Given the description of an element on the screen output the (x, y) to click on. 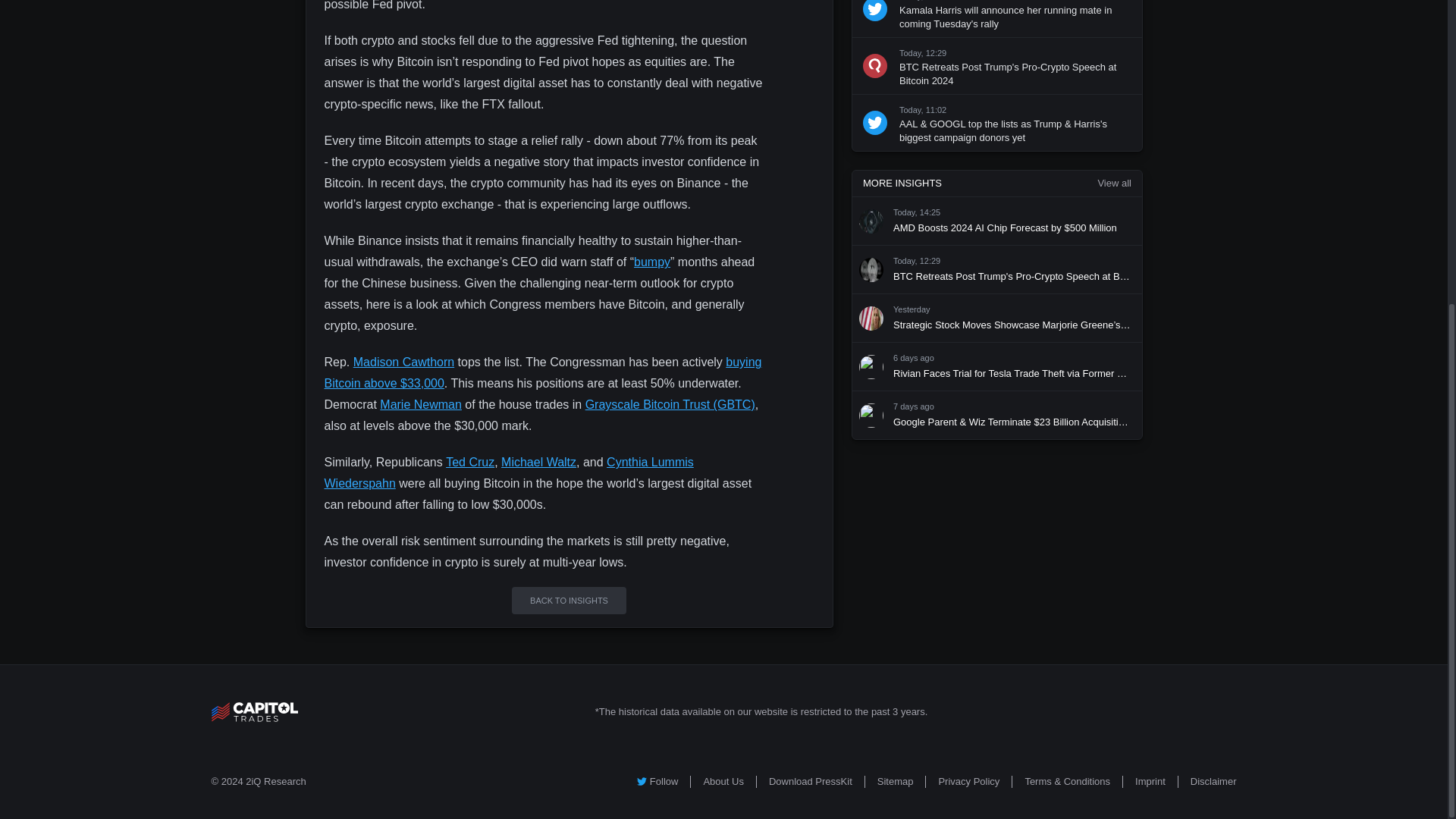
2024-07-24 15:52:38 (913, 406)
Michael Waltz (538, 461)
2024-07-31 14:14:56 (922, 0)
2024-07-30 15:50:59 (911, 309)
Follow (657, 781)
2024-07-31 14:25:24 (916, 212)
2024-07-31 11:02:18 (922, 109)
2024-07-31 12:29:14 (922, 52)
2024-07-31 12:29:14 (916, 261)
Cynthia Lummis Wiederspahn (509, 472)
Marie Newman (420, 404)
bumpy (651, 261)
2024-07-25 11:59:43 (913, 358)
